Given the description of an element on the screen output the (x, y) to click on. 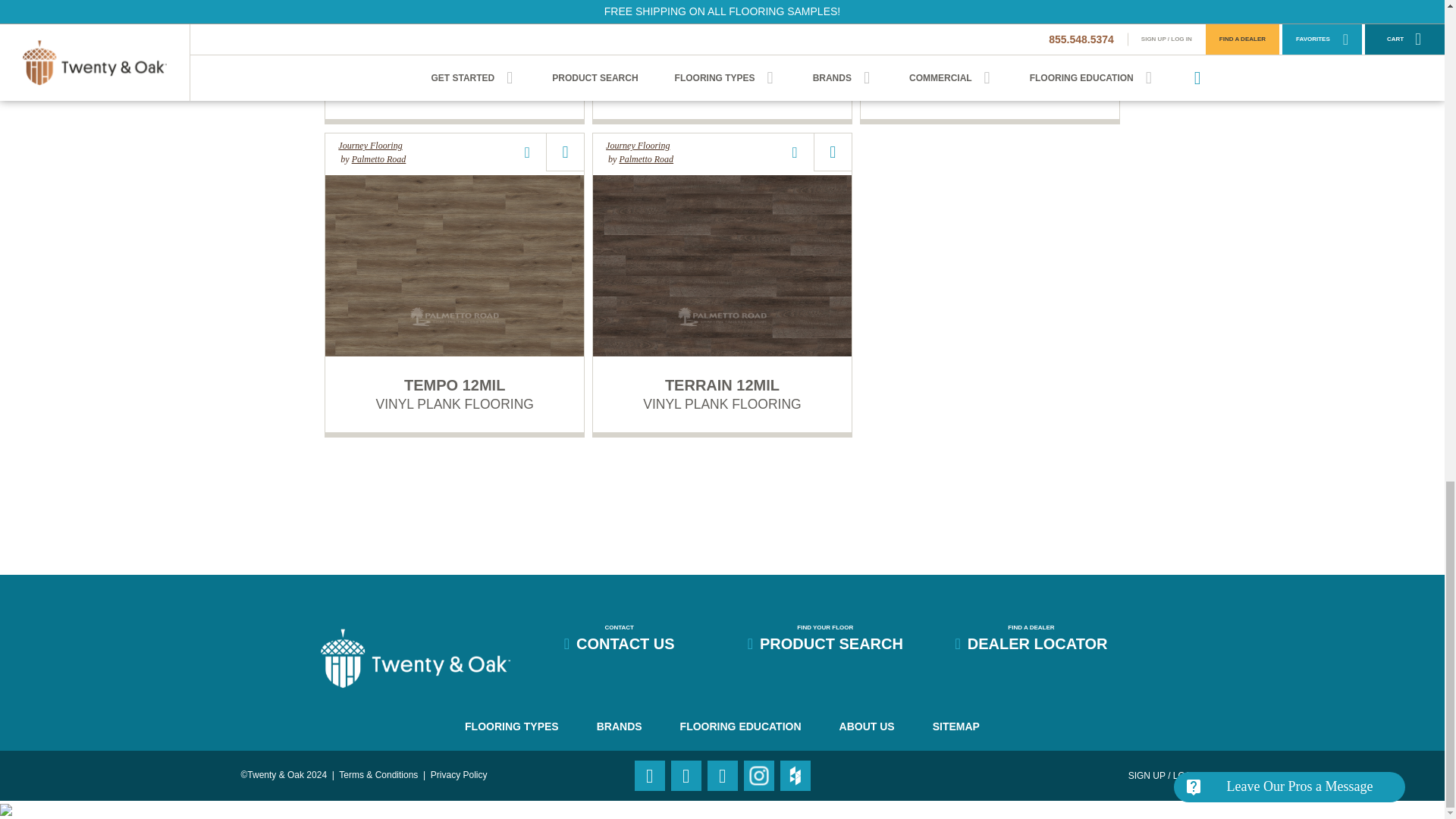
Add to cart (832, 151)
Add to Cart (565, 151)
Add to cart (565, 151)
